Given the description of an element on the screen output the (x, y) to click on. 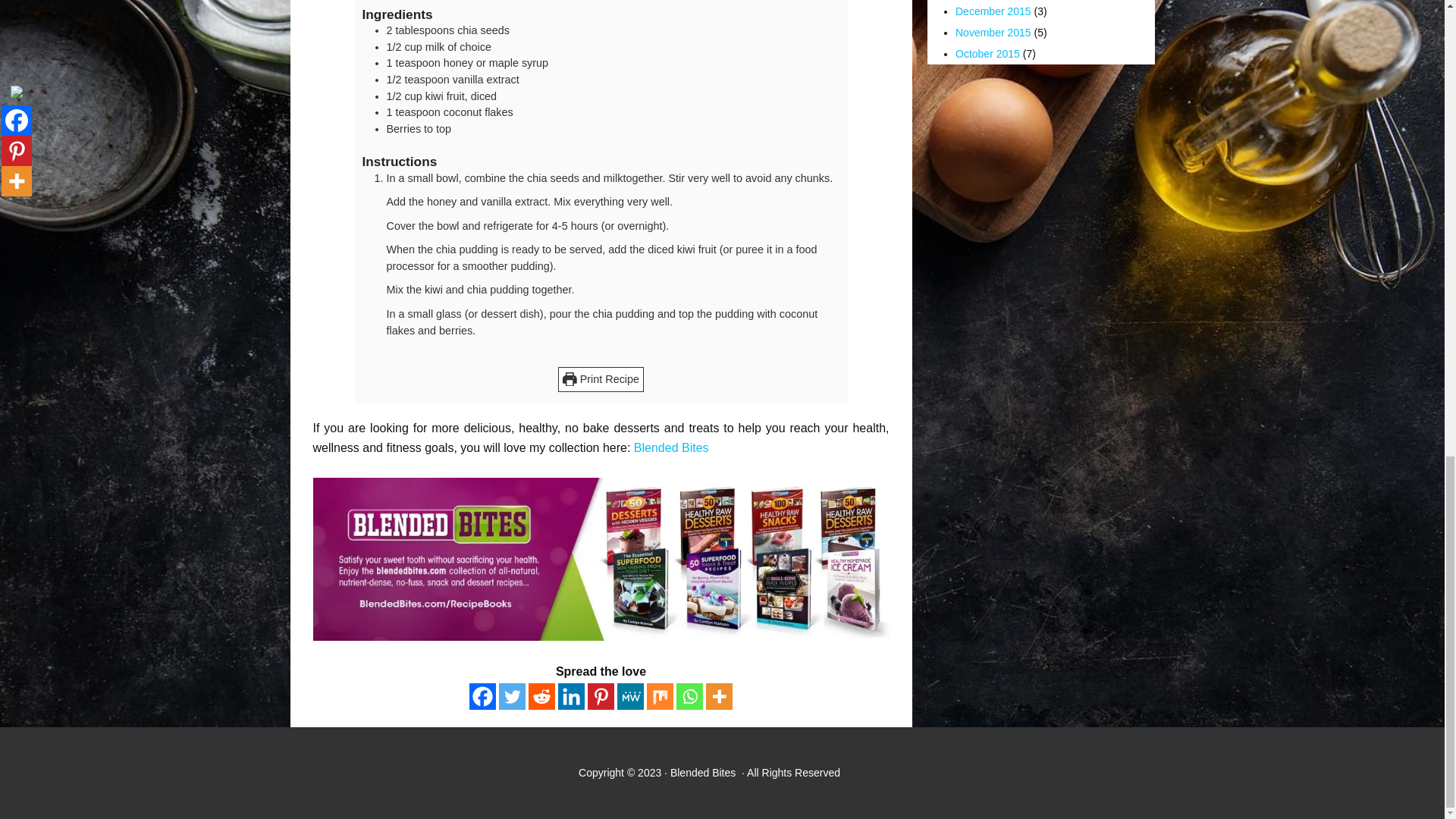
Twitter (512, 696)
Pinterest (601, 696)
Reddit (541, 696)
Facebook (482, 696)
MeWe (630, 696)
Linkedin (571, 696)
Mix (659, 696)
Print Recipe (600, 379)
Whatsapp (690, 696)
More (719, 696)
Blended Bites  (672, 447)
